Given the description of an element on the screen output the (x, y) to click on. 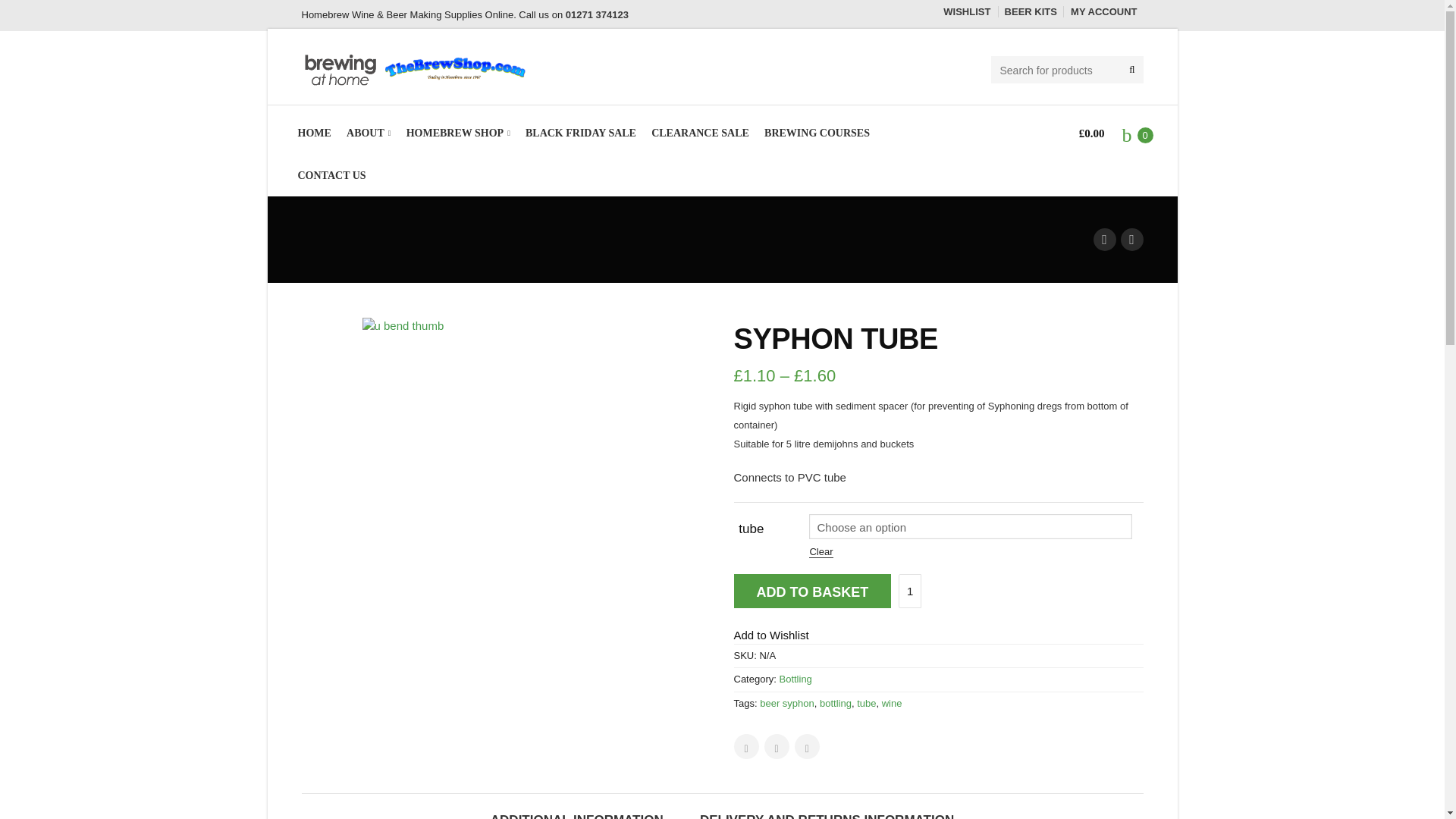
CONTACT US (331, 175)
HOMEBREW SHOP (458, 133)
BLACK FRIDAY SALE (580, 132)
BREWING COURSES (816, 132)
ABOUT (368, 133)
View your shopping cart (1102, 133)
CLEARANCE SALE (699, 132)
WISHLIST (966, 11)
MY ACCOUNT (1103, 11)
01271 374123 (597, 14)
BEER KITS (1030, 11)
